Given the description of an element on the screen output the (x, y) to click on. 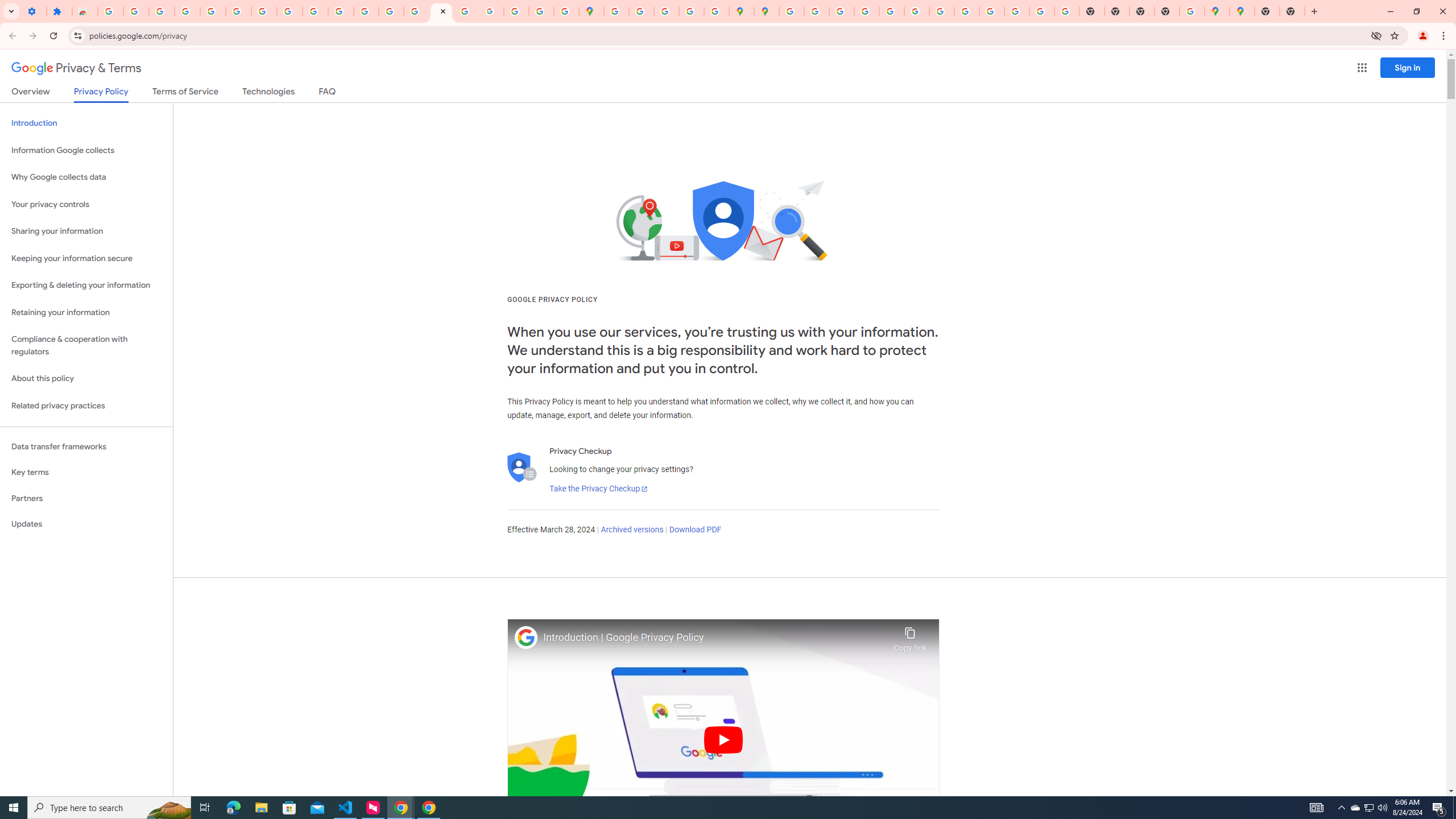
Why Google collects data (86, 176)
Key terms (86, 472)
FAQ (327, 93)
Technologies (268, 93)
Create your Google Account (666, 11)
Take the Privacy Checkup (597, 488)
Sign in - Google Accounts (213, 11)
Information Google collects (86, 150)
Extensions (59, 11)
